Given the description of an element on the screen output the (x, y) to click on. 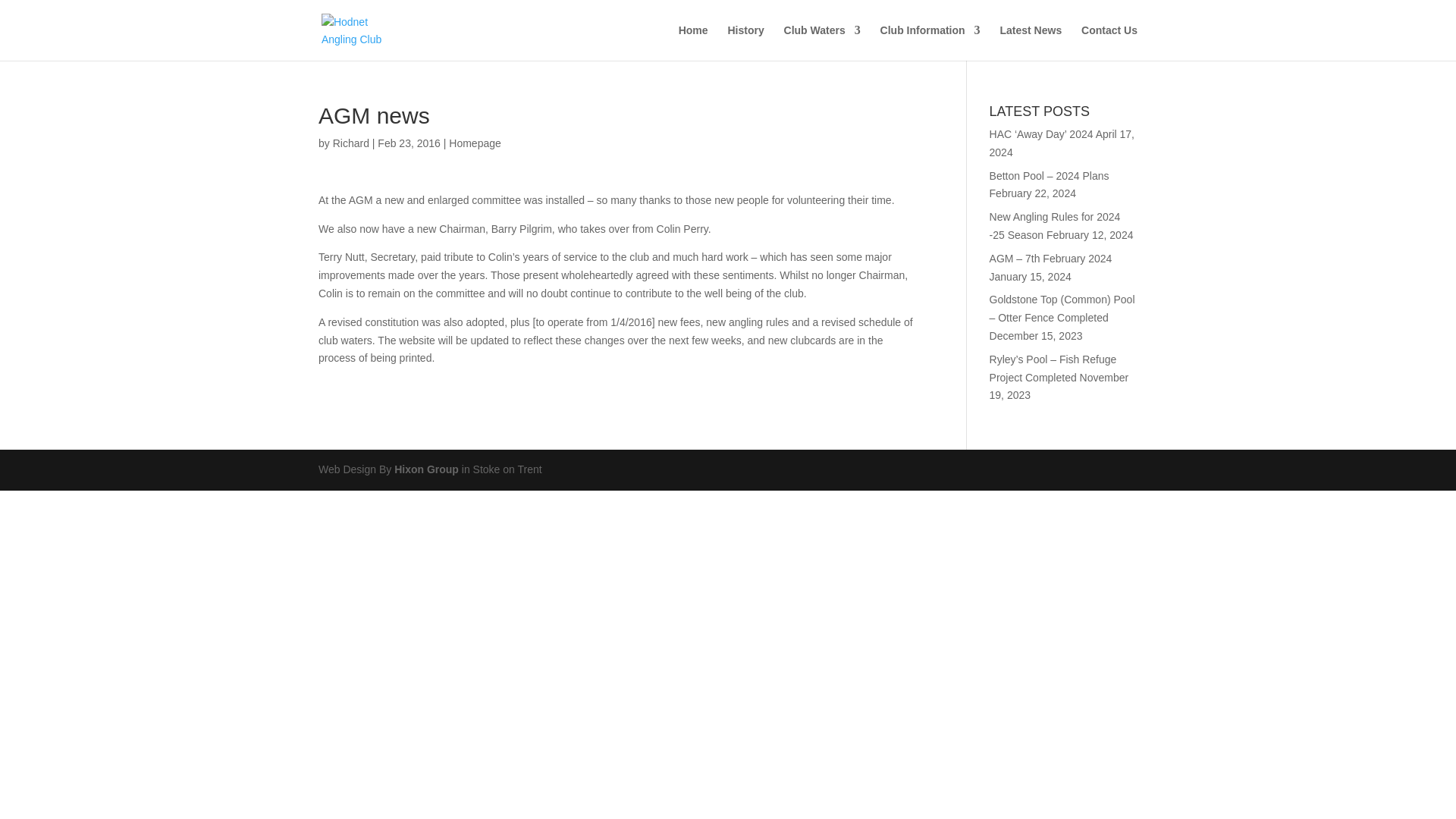
Club Waters (822, 42)
Richard (351, 143)
Club Information (929, 42)
Latest News (1029, 42)
Hodnet Angling Club Information (929, 42)
Home (692, 42)
New Angling Rules for 2024 -25 Season (1055, 225)
Contact Us (1109, 42)
Homepage (474, 143)
Hixon Group (426, 469)
History (744, 42)
History (744, 42)
Posts by Richard (351, 143)
